Given the description of an element on the screen output the (x, y) to click on. 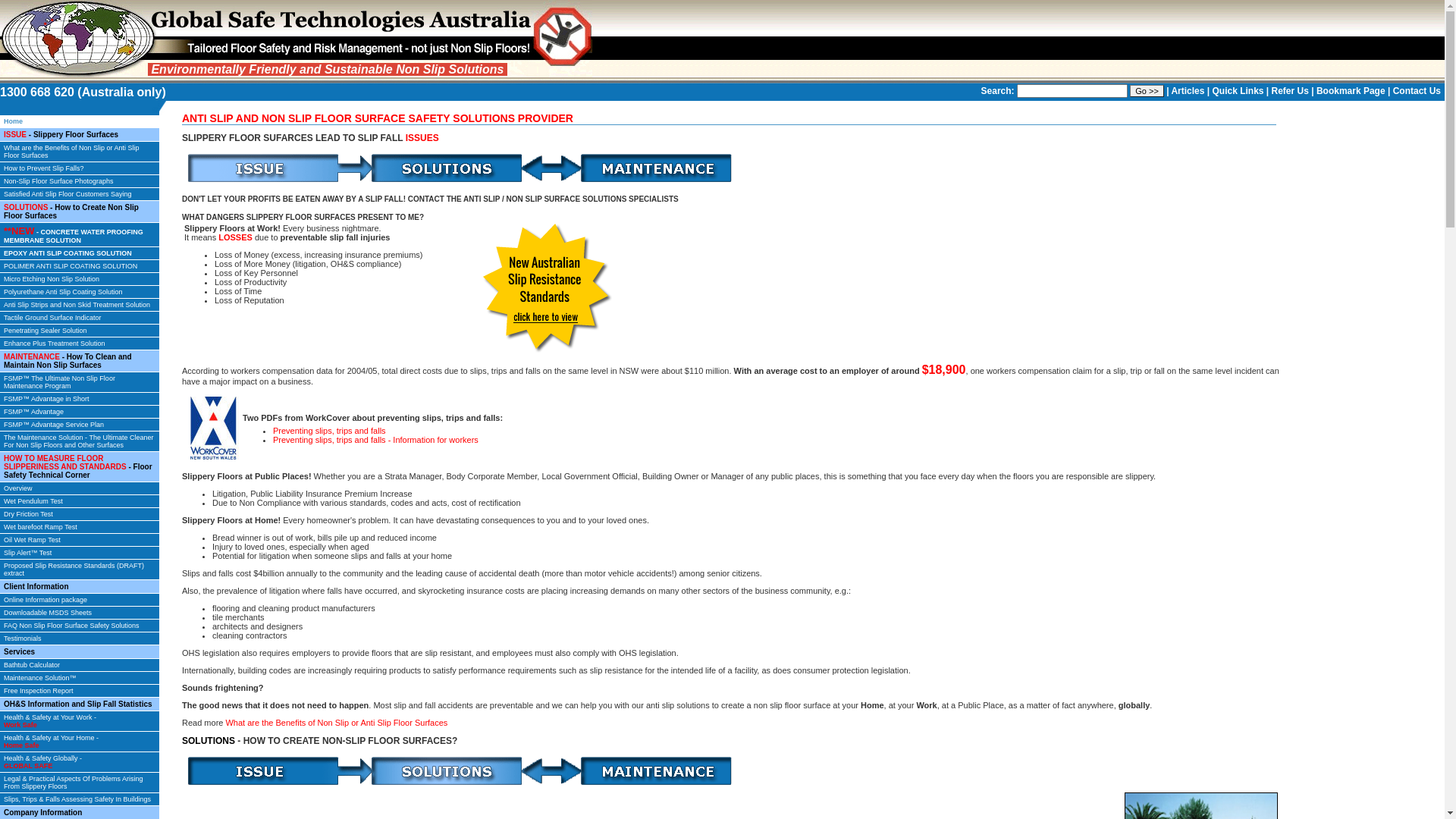
Health & Safety at Your Home -
Home Safe Element type: text (83, 741)
Polyurethane Anti Slip Coating Solution Element type: text (83, 291)
Refer Us Element type: text (1289, 90)
Free Inspection Report Element type: text (83, 690)
EPOXY ANTI SLIP COATING SOLUTION Element type: text (83, 253)
Dry Friction Test Element type: text (83, 514)
OH&S Information and Slip Fall Statistics Element type: text (83, 704)
Anti Slip Strips and Non Skid Treatment Solution Element type: text (83, 304)
Bookmark Page Element type: text (1350, 90)
SOLUTIONS - How to Create Non Slip Floor Surfaces Element type: text (83, 211)
Articles Element type: text (1187, 90)
Contact Us Element type: text (1416, 90)
Wet Pendulum Test Element type: text (83, 501)
Services Element type: text (83, 651)
Downloadable MSDS Sheets Element type: text (83, 612)
Client Information Element type: text (83, 586)
ISSUE - Slippery Floor Surfaces Element type: text (83, 134)
Overview Element type: text (83, 488)
Health & Safety Globally -
GLOBAL SAFE Element type: text (83, 762)
Bathtub Calculator Element type: text (83, 664)
Preventing slips, trips and falls Element type: text (329, 430)
Micro Etching Non Slip Solution Element type: text (83, 279)
SOLUTIONS Element type: text (208, 740)
MAINTENANCE - How To Clean and Maintain Non Slip Surfaces Element type: text (83, 361)
Home Element type: text (83, 121)
Slips, Trips & Falls Assessing Safety In Buildings Element type: text (83, 799)
Proposed Slip Resistance Standards (DRAFT) extract Element type: text (83, 569)
How to Prevent Slip Falls? Element type: text (83, 168)
POLIMER ANTI SLIP COATING SOLUTION Element type: text (83, 266)
Penetrating Sealer Solution Element type: text (83, 330)
Oil Wet Ramp Test Element type: text (83, 539)
ISSUES Element type: text (422, 137)
Enhance Plus Treatment Solution Element type: text (83, 343)
**NEW - CONCRETE WATER PROOFING MEMBRANE SOLUTION Element type: text (83, 234)
Tactile Ground Surface Indicator Element type: text (83, 317)
Testimonials Element type: text (83, 638)
Quick Links Element type: text (1237, 90)
1300 668 620 (Australia only) Element type: text (83, 91)
Satisfied Anti Slip Floor Customers Saying Element type: text (83, 194)
Non-Slip Floor Surface Photographs Element type: text (83, 181)
FAQ Non Slip Floor Surface Safety Solutions Element type: text (83, 625)
Go >> Element type: text (1146, 90)
Health & Safety at Your Work -
Work Safe Element type: text (83, 721)
Wet barefoot Ramp Test Element type: text (83, 526)
Preventing slips, trips and falls - Information for workers Element type: text (375, 439)
Online Information package Element type: text (83, 599)
